Given the description of an element on the screen output the (x, y) to click on. 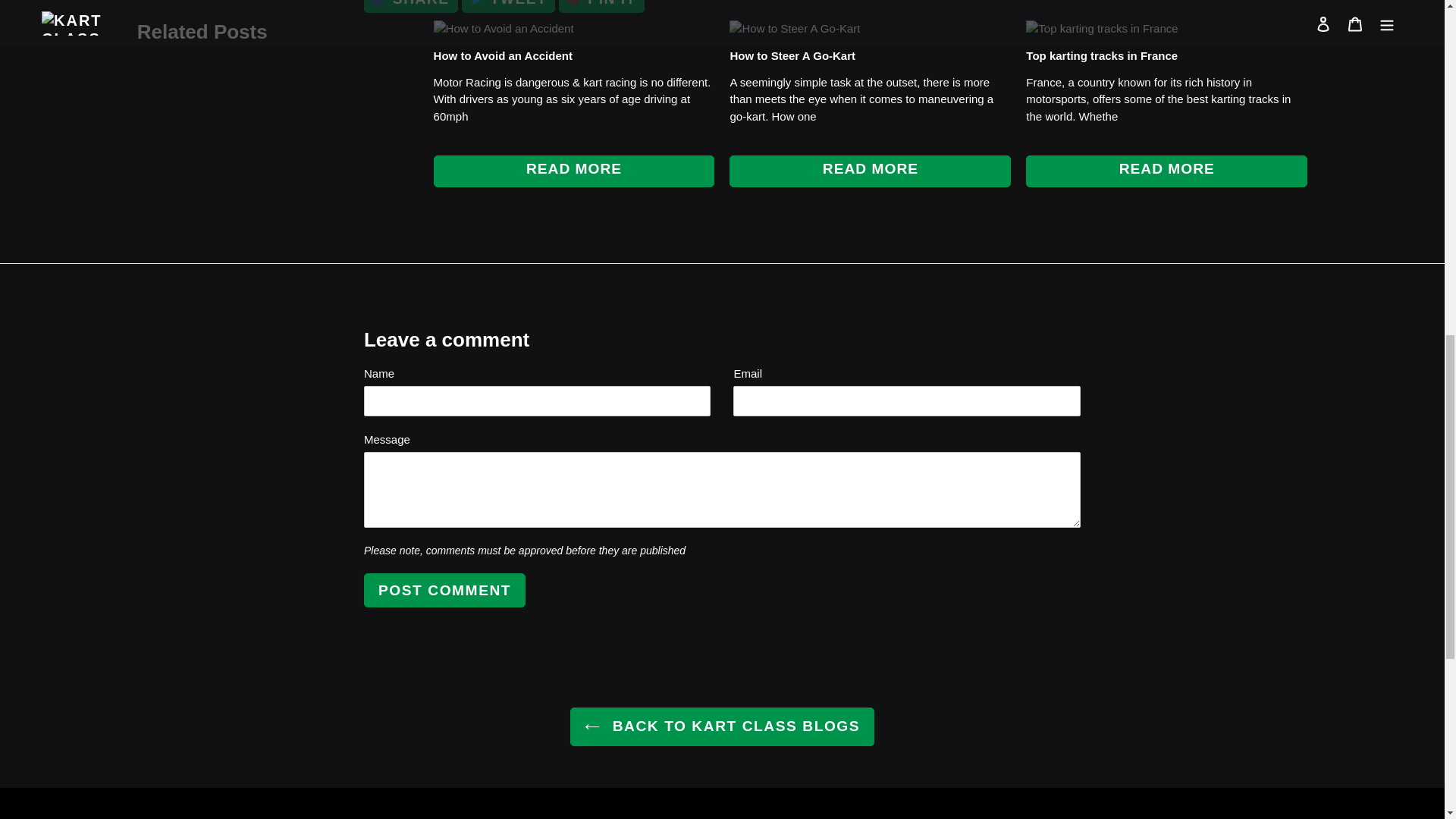
BACK TO KART CLASS BLOGS (722, 726)
How to Steer A Go-Kart (792, 55)
READ MORE (869, 171)
READ MORE (1166, 171)
READ MORE (573, 171)
How to Avoid an Accident (502, 55)
Post comment (444, 590)
Post comment (508, 6)
